Given the description of an element on the screen output the (x, y) to click on. 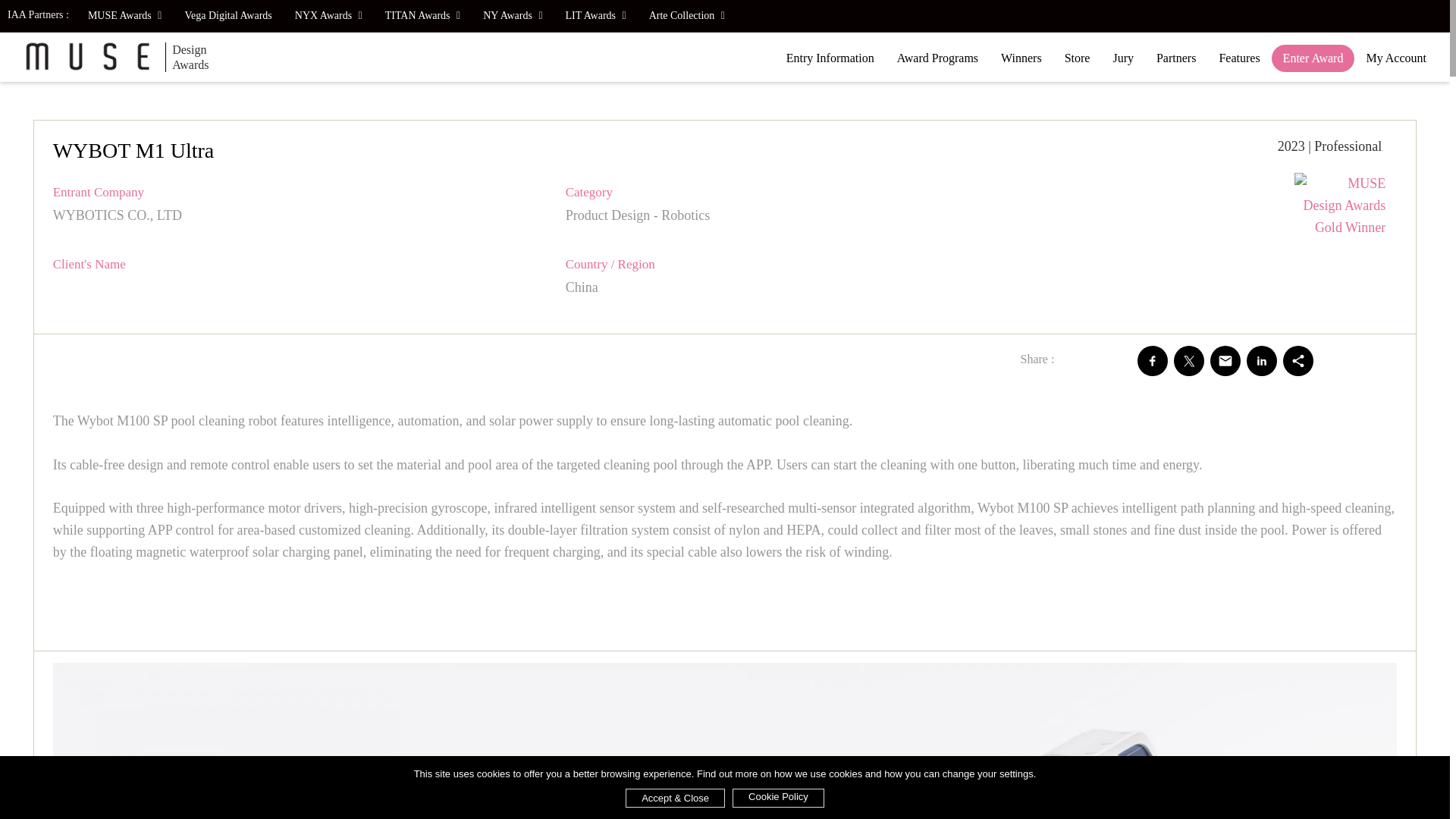
NY Awards (512, 15)
MUSE Awards (125, 15)
Vega Digital Awards (227, 15)
Entry Information (829, 58)
LIT Awards (595, 15)
NYX Awards (328, 15)
TITAN Awards (422, 15)
Arte Collection (686, 15)
Opens a widget where you can chat to one of our agents (1391, 792)
